Given the description of an element on the screen output the (x, y) to click on. 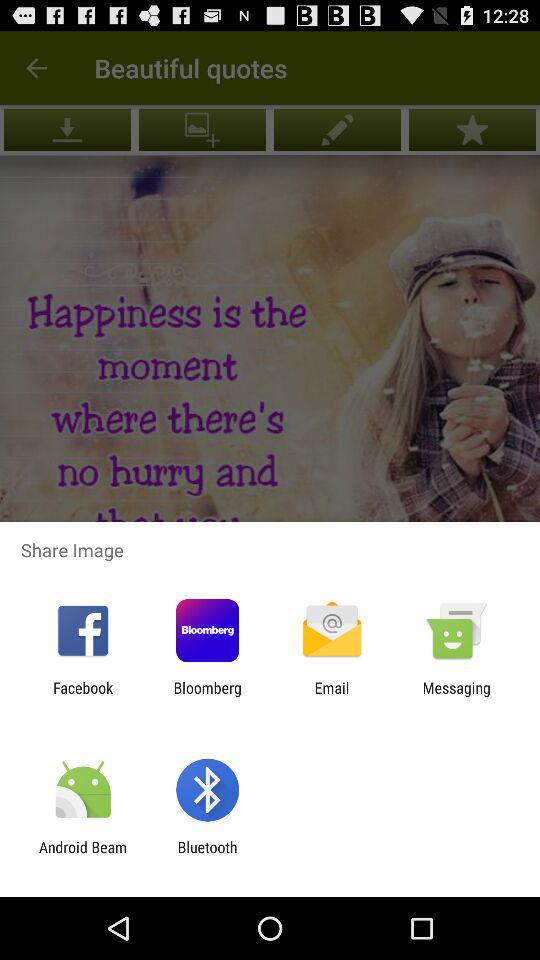
flip to the facebook item (83, 696)
